Given the description of an element on the screen output the (x, y) to click on. 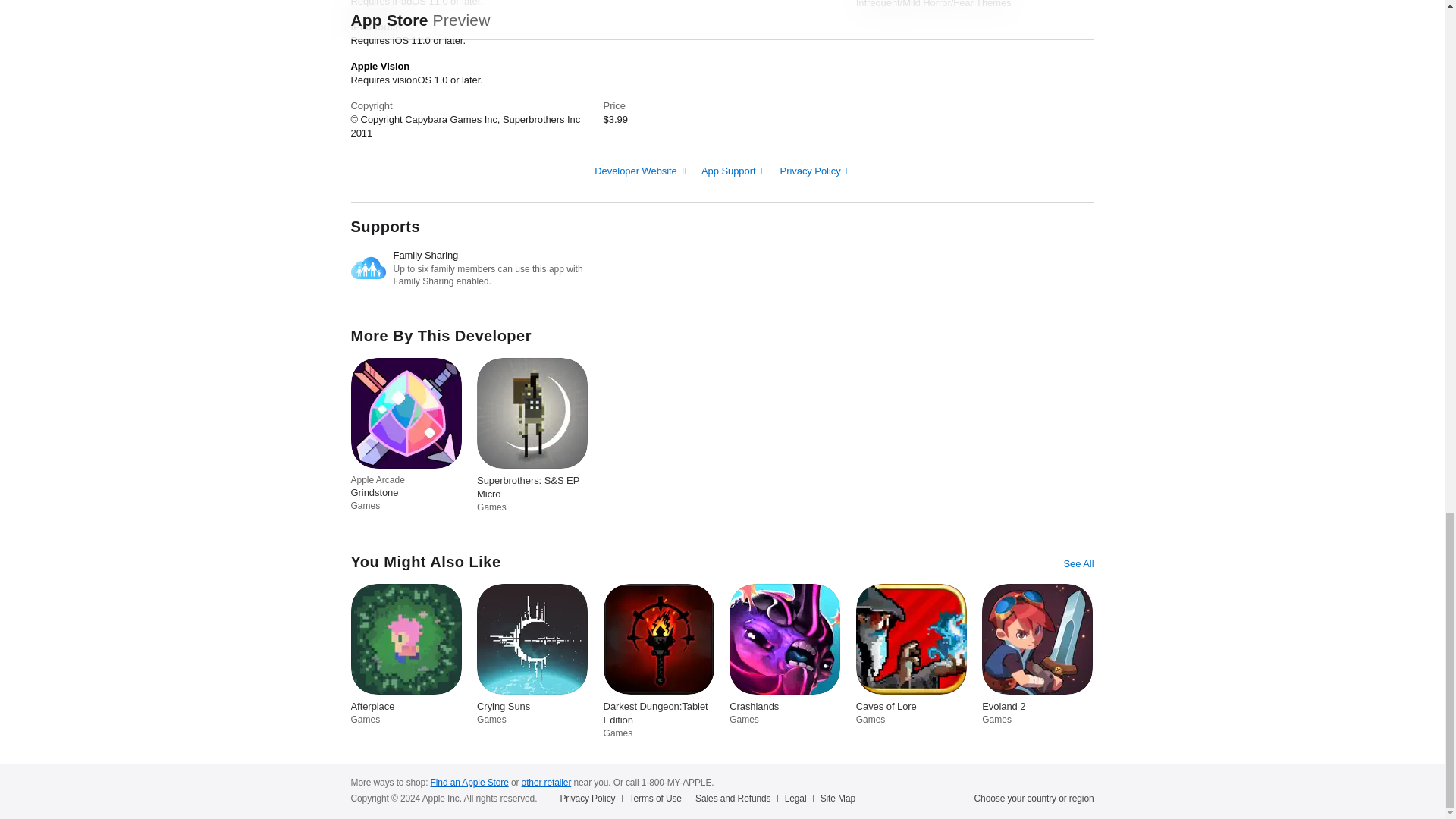
Choose your country or region (1034, 798)
